Given the description of an element on the screen output the (x, y) to click on. 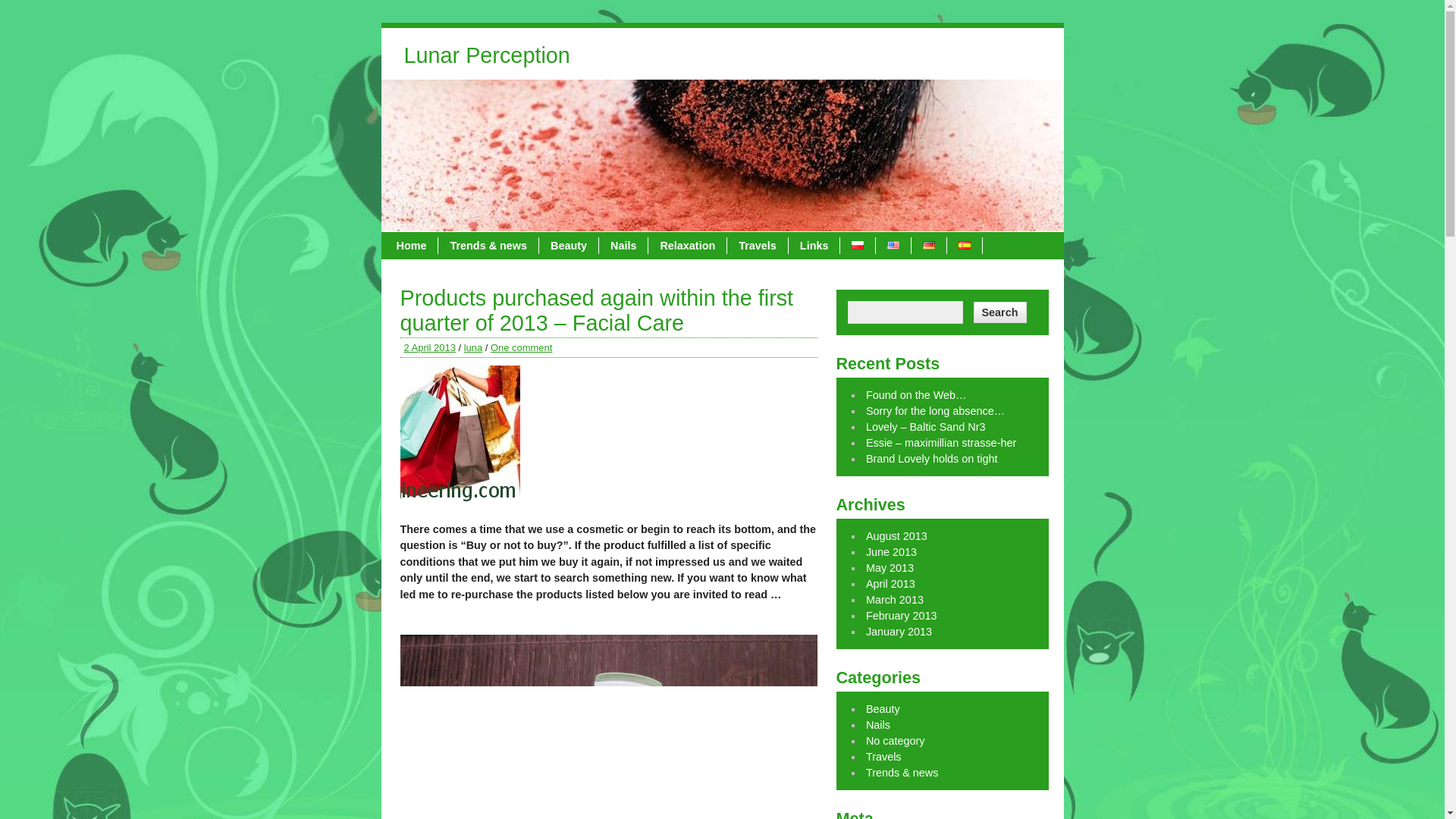
Beauty (568, 245)
Links (815, 245)
August 2013 (896, 535)
Search (1000, 312)
One comment (520, 347)
June 2013 (891, 551)
Posts by luna (473, 347)
Relaxation (686, 245)
Lunar Perception (486, 59)
Home (412, 245)
